Given the description of an element on the screen output the (x, y) to click on. 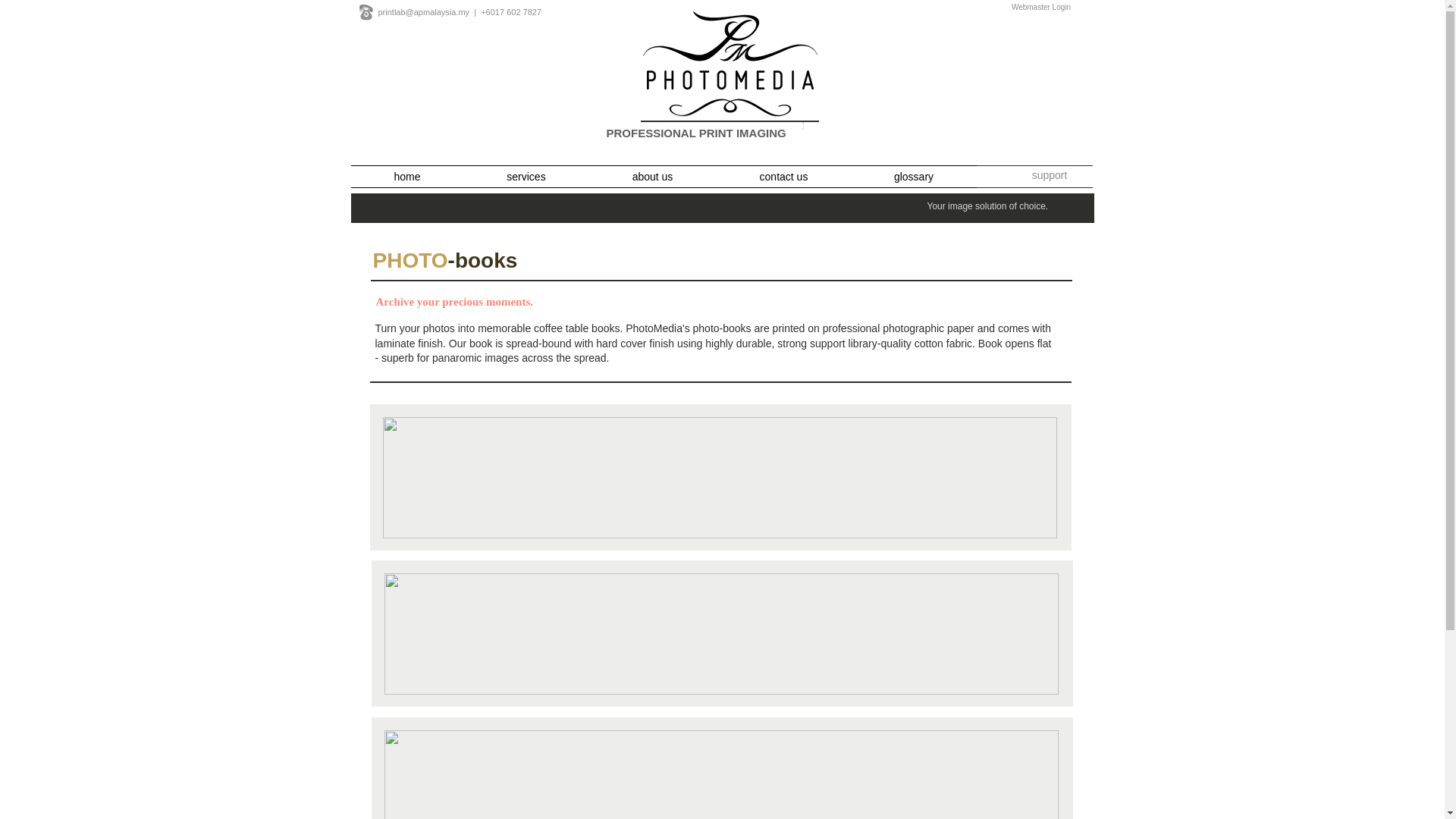
services (526, 176)
glossary (912, 176)
contact us (783, 176)
home (406, 176)
Webmaster Login (1039, 7)
Facebook Like (449, 141)
about us (652, 176)
